Given the description of an element on the screen output the (x, y) to click on. 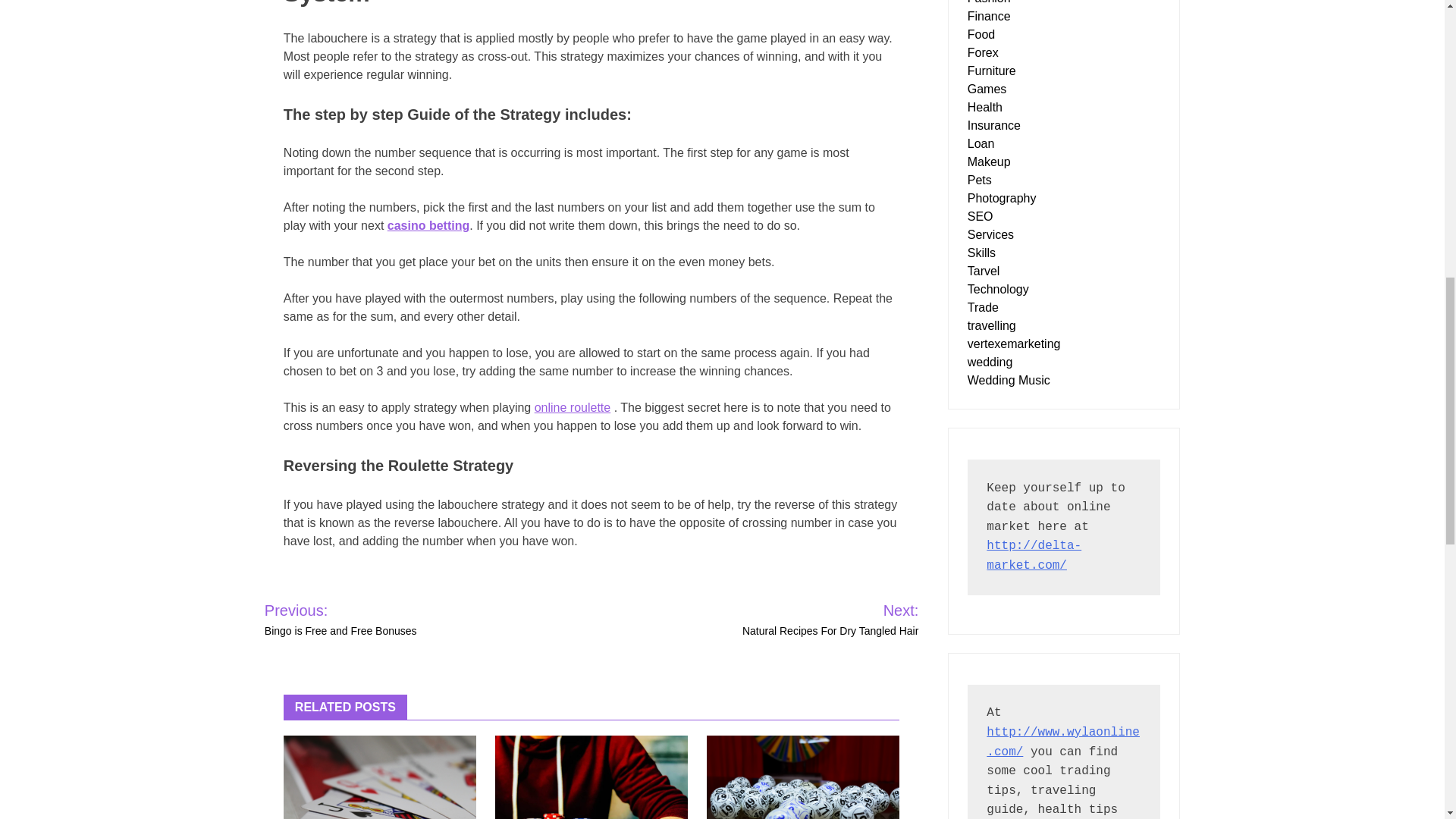
online roulette (572, 407)
casino betting (427, 225)
Previous: Bingo is Free and Free Bonuses (373, 618)
Next: Natural Recipes For Dry Tangled Hair (810, 618)
